Given the description of an element on the screen output the (x, y) to click on. 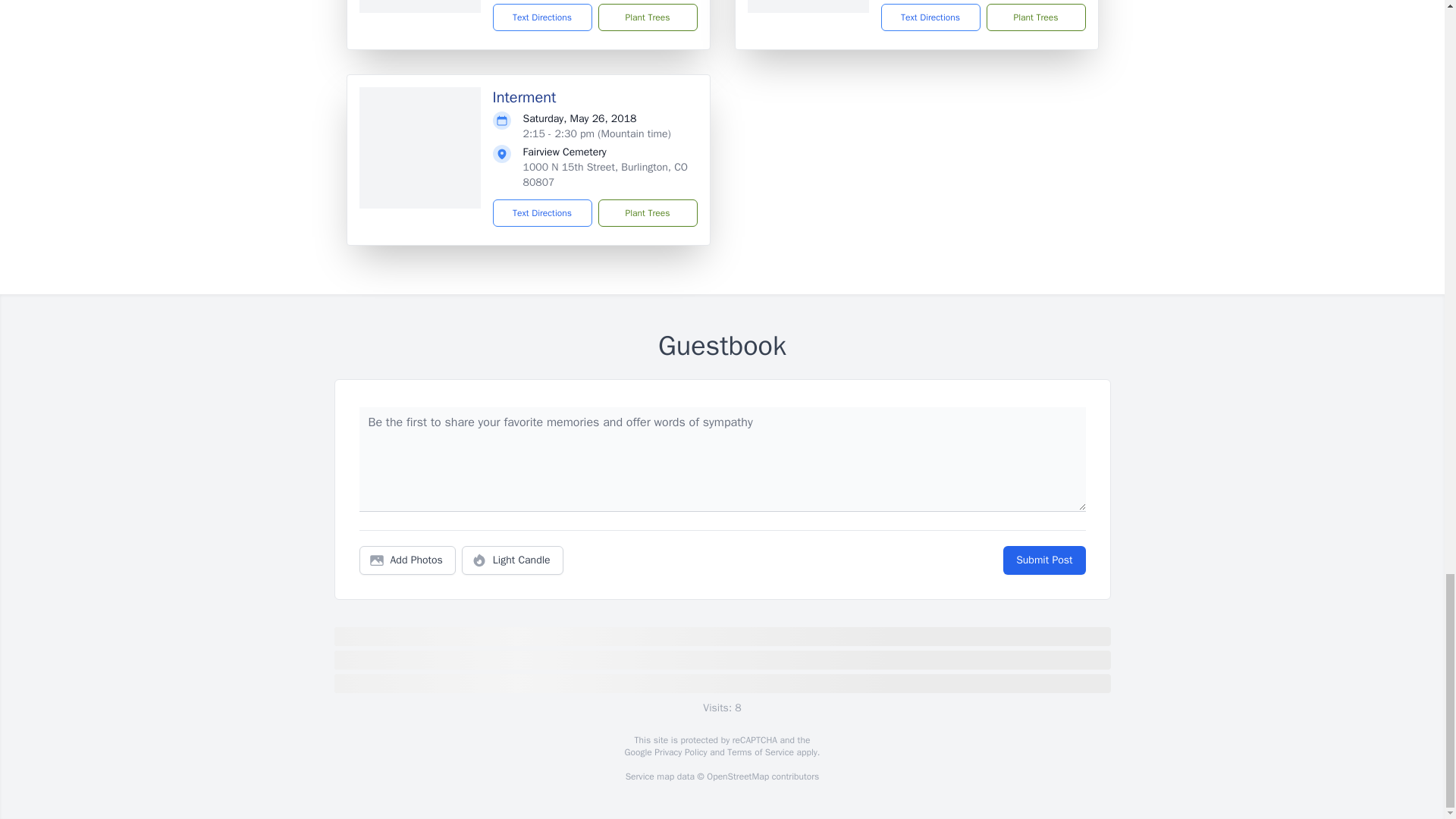
Light Candle (512, 560)
Plant Trees (646, 212)
Terms of Service (759, 752)
Privacy Policy (679, 752)
OpenStreetMap (737, 776)
Text Directions (542, 212)
Plant Trees (1034, 17)
Add Photos (407, 560)
Text Directions (929, 17)
Text Directions (542, 17)
1000 N 15th Street, Burlington, CO 80807 (605, 174)
Submit Post (1043, 560)
Plant Trees (646, 17)
